Given the description of an element on the screen output the (x, y) to click on. 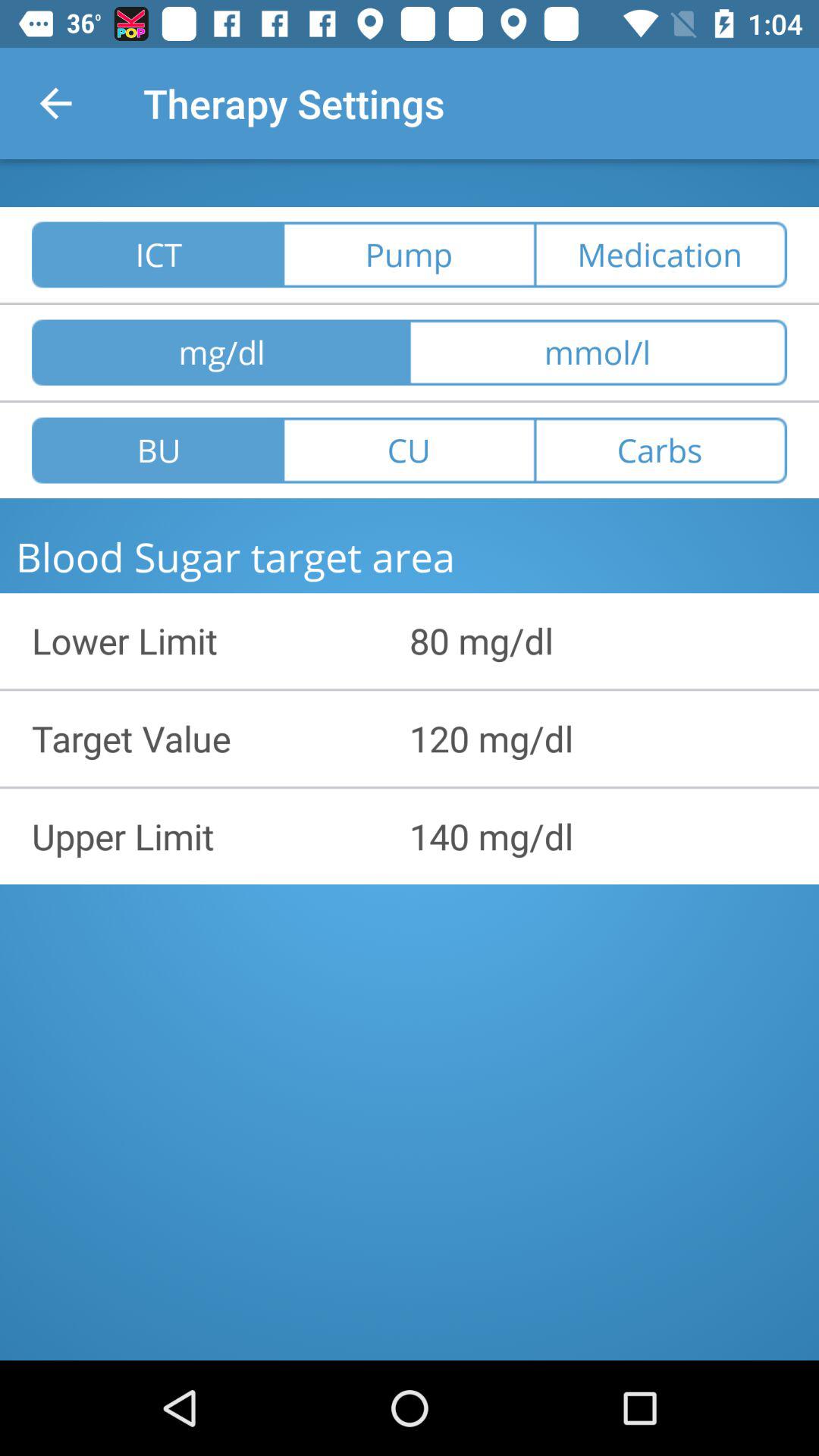
turn off item next to the cu (661, 450)
